Given the description of an element on the screen output the (x, y) to click on. 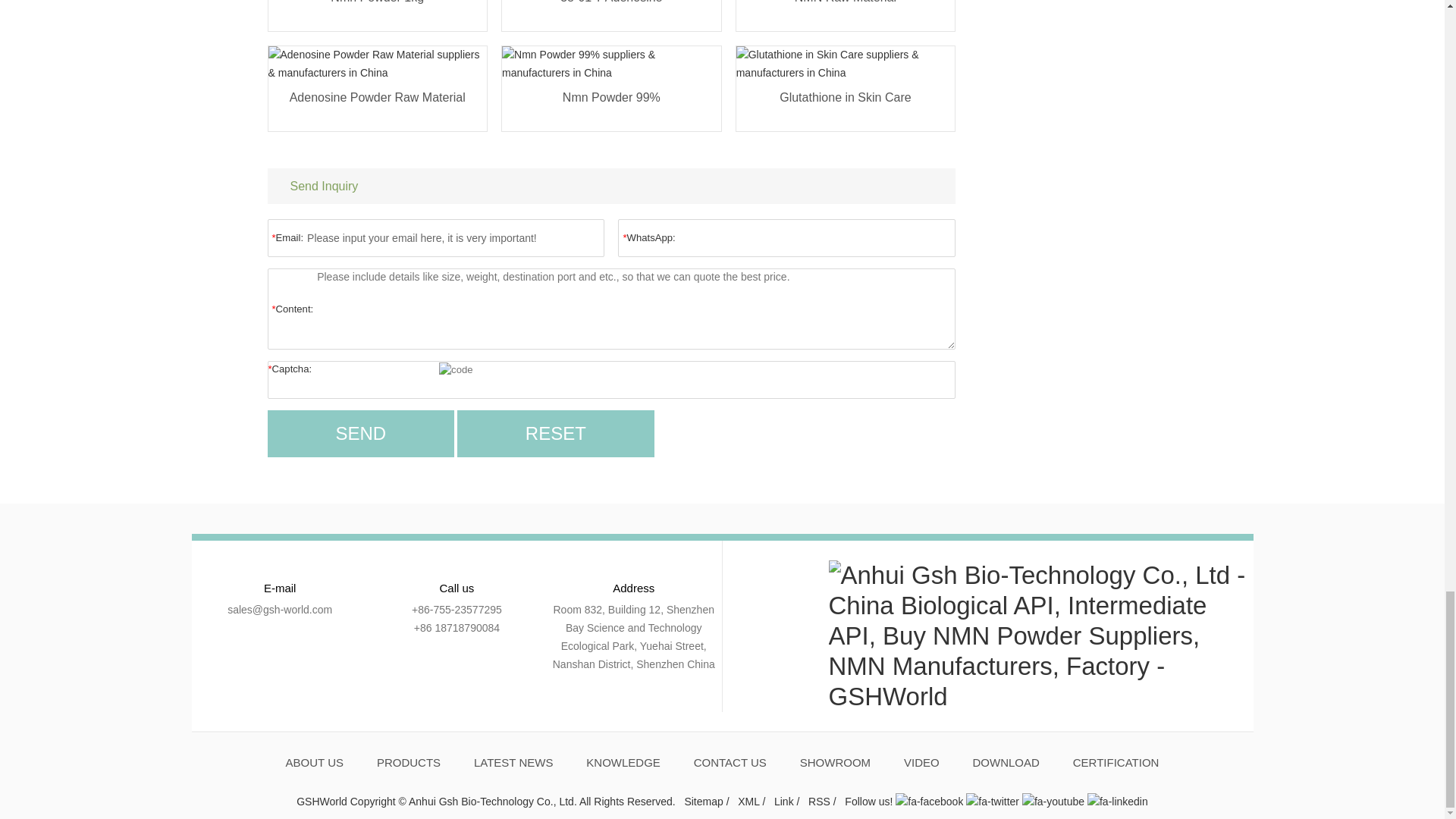
Nmn Powder 1kg (377, 12)
58-61-7 Adenosine (611, 12)
Adenosine Powder Raw Material (377, 106)
Adenosine Powder Raw Material (377, 106)
Nmn Powder 1kg (377, 12)
NMN Raw Material (845, 12)
Glutathione in Skin Care (845, 106)
NMN Raw Material (845, 12)
58-61-7 Adenosine (611, 12)
